Given the description of an element on the screen output the (x, y) to click on. 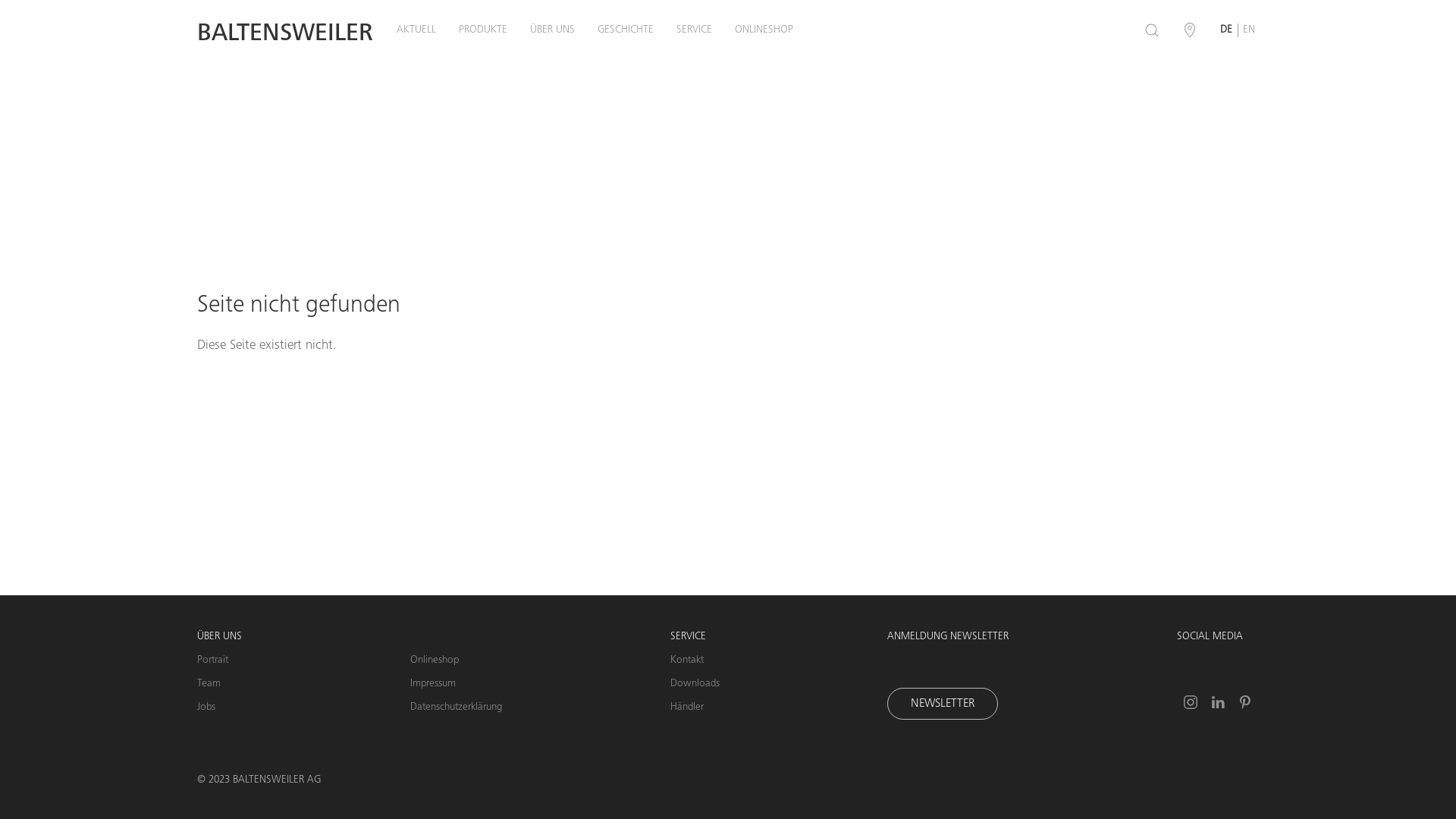
Jobs Element type: text (219, 707)
Team Element type: text (219, 684)
SERVICE Element type: text (694, 30)
Kontakt Element type: text (694, 660)
AKTUELL Element type: text (416, 30)
NEWSLETTER Element type: text (942, 703)
ONLINESHOP Element type: text (763, 30)
DE Element type: text (1222, 30)
Onlineshop Element type: text (456, 660)
BALTENSWEILER Element type: text (285, 34)
PRODUKTE Element type: text (482, 30)
Portrait Element type: text (219, 660)
GESCHICHTE Element type: text (625, 30)
Downloads Element type: text (694, 684)
EN Element type: text (1251, 30)
Impressum Element type: text (456, 684)
